Given the description of an element on the screen output the (x, y) to click on. 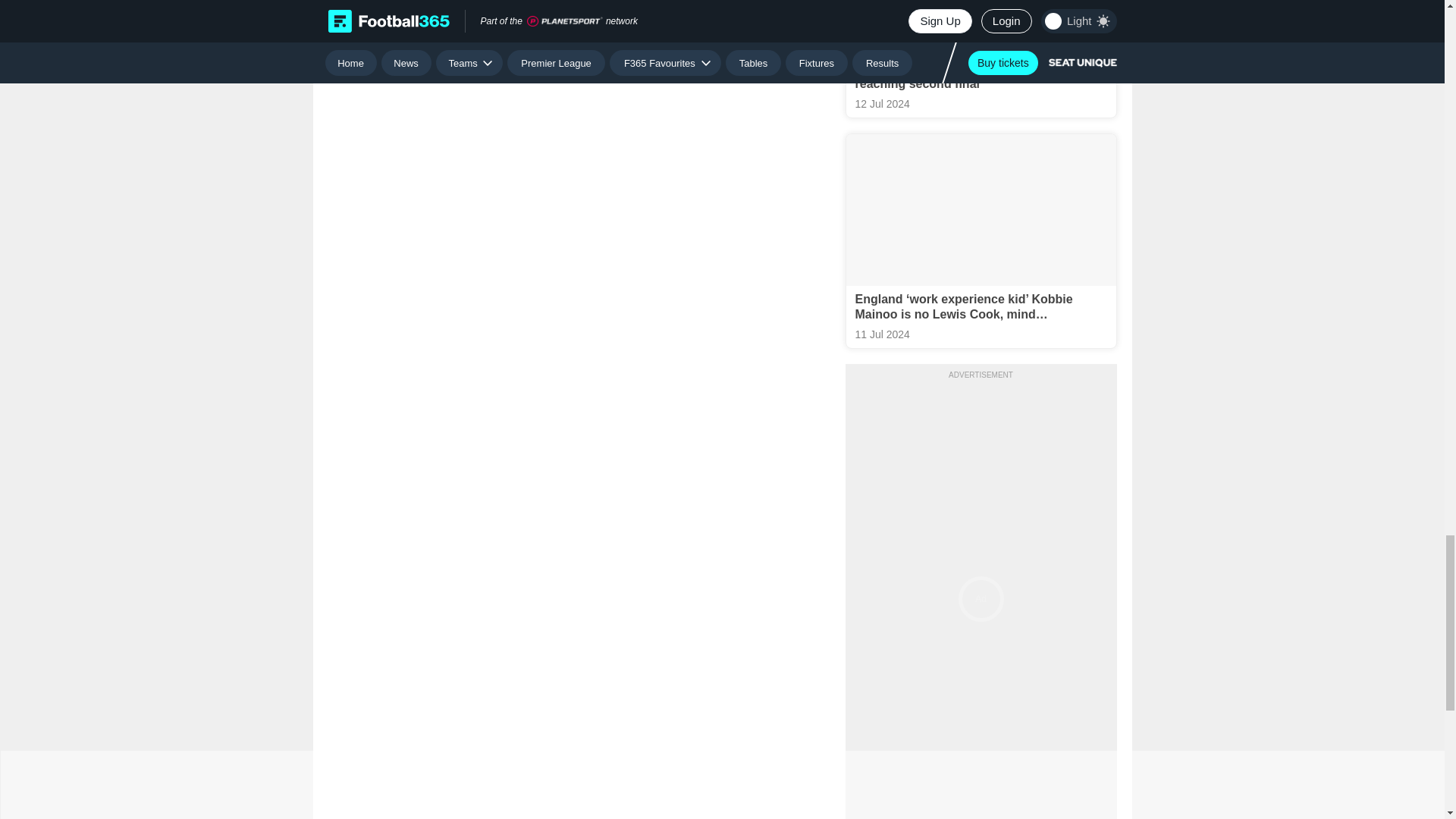
Vuukle Comments Widget (578, 119)
